Given the description of an element on the screen output the (x, y) to click on. 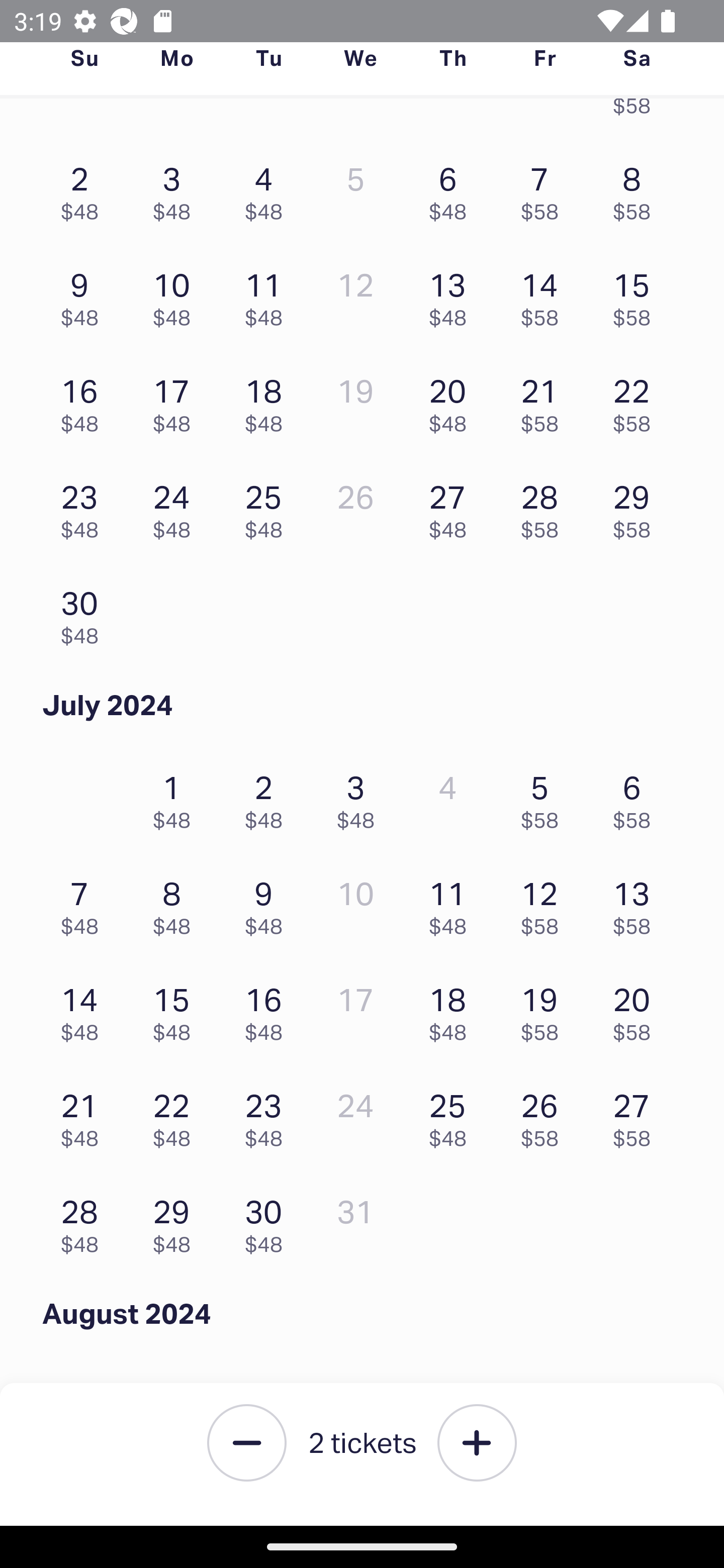
$58 (636, 114)
2 $48 (84, 188)
3 $48 (176, 188)
4 $48 (268, 188)
6 $48 (452, 188)
7 $58 (544, 188)
8 $58 (636, 188)
9 $48 (84, 294)
10 $48 (176, 294)
11 $48 (268, 294)
13 $48 (452, 294)
14 $58 (544, 294)
15 $58 (636, 294)
16 $48 (84, 400)
17 $48 (176, 400)
18 $48 (268, 400)
20 $48 (452, 400)
21 $58 (544, 400)
22 $58 (636, 400)
23 $48 (84, 506)
24 $48 (176, 506)
25 $48 (268, 506)
27 $48 (452, 506)
28 $58 (544, 506)
29 $58 (636, 506)
30 $48 (84, 611)
1 $48 (176, 796)
2 $48 (268, 796)
3 $48 (360, 796)
5 $58 (544, 796)
6 $58 (636, 796)
7 $48 (84, 903)
8 $48 (176, 903)
9 $48 (268, 903)
11 $48 (452, 903)
12 $58 (544, 903)
13 $58 (636, 903)
14 $48 (84, 1008)
15 $48 (176, 1008)
16 $48 (268, 1008)
18 $48 (452, 1008)
19 $58 (544, 1008)
20 $58 (636, 1008)
21 $48 (84, 1115)
22 $48 (176, 1115)
23 $48 (268, 1115)
25 $48 (452, 1115)
26 $58 (544, 1115)
27 $58 (636, 1115)
28 $48 (84, 1221)
29 $48 (176, 1221)
30 $48 (268, 1221)
